Given the description of an element on the screen output the (x, y) to click on. 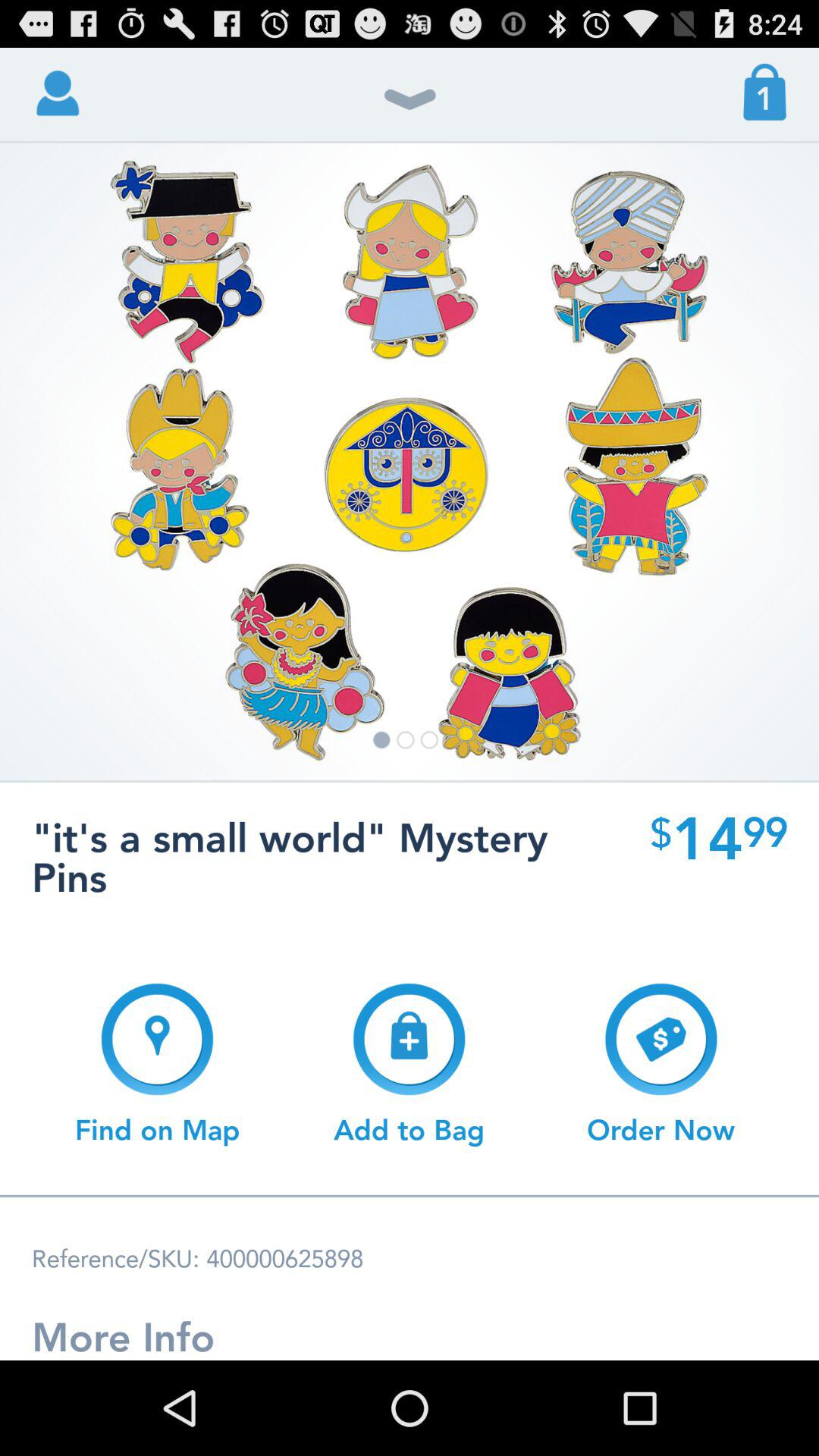
turn on icon next to add to bag button (661, 1064)
